Given the description of an element on the screen output the (x, y) to click on. 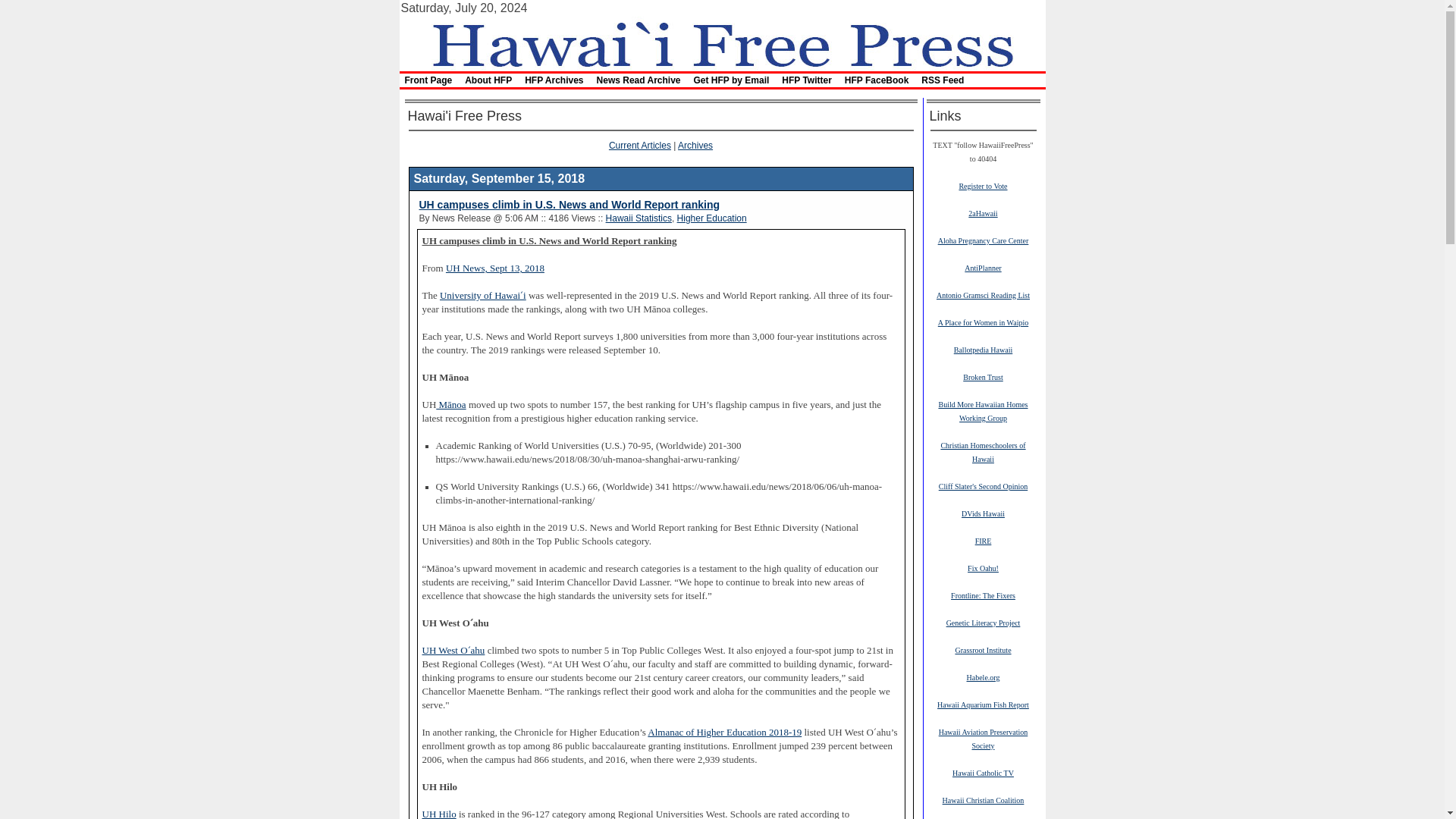
A Place for Women in Waipio (982, 321)
Broken Trust (982, 376)
UH campuses climb in U.S. News and World Report ranking (569, 204)
Aloha Pregnancy Care Center (983, 240)
Archives (695, 145)
Hawaii Christian Coalition (983, 799)
Fix Oahu! (983, 567)
Grassroot Institute (982, 649)
Hawaii Free Press (721, 42)
Almanac of Higher Education 2018-19 (724, 732)
Register to Vote (982, 185)
Hawaii Aviation Preservation Society (983, 738)
DVids Hawaii (982, 512)
Frontline: The Fixers (982, 594)
Antonio Gramsci Reading List (982, 294)
